Given the description of an element on the screen output the (x, y) to click on. 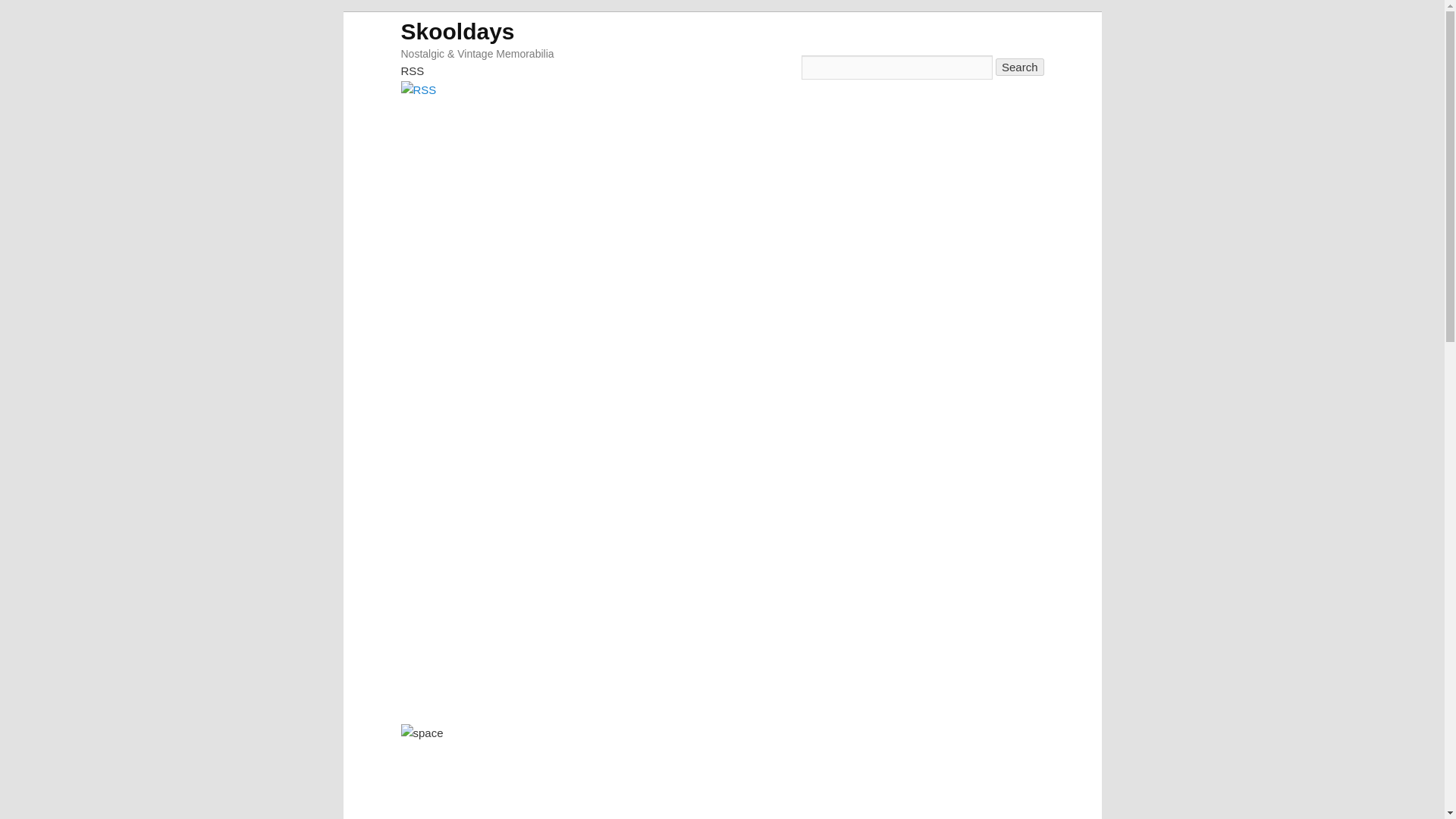
Search (1019, 67)
Skooldays (456, 30)
Skooldays (456, 30)
Search (1019, 67)
